Given the description of an element on the screen output the (x, y) to click on. 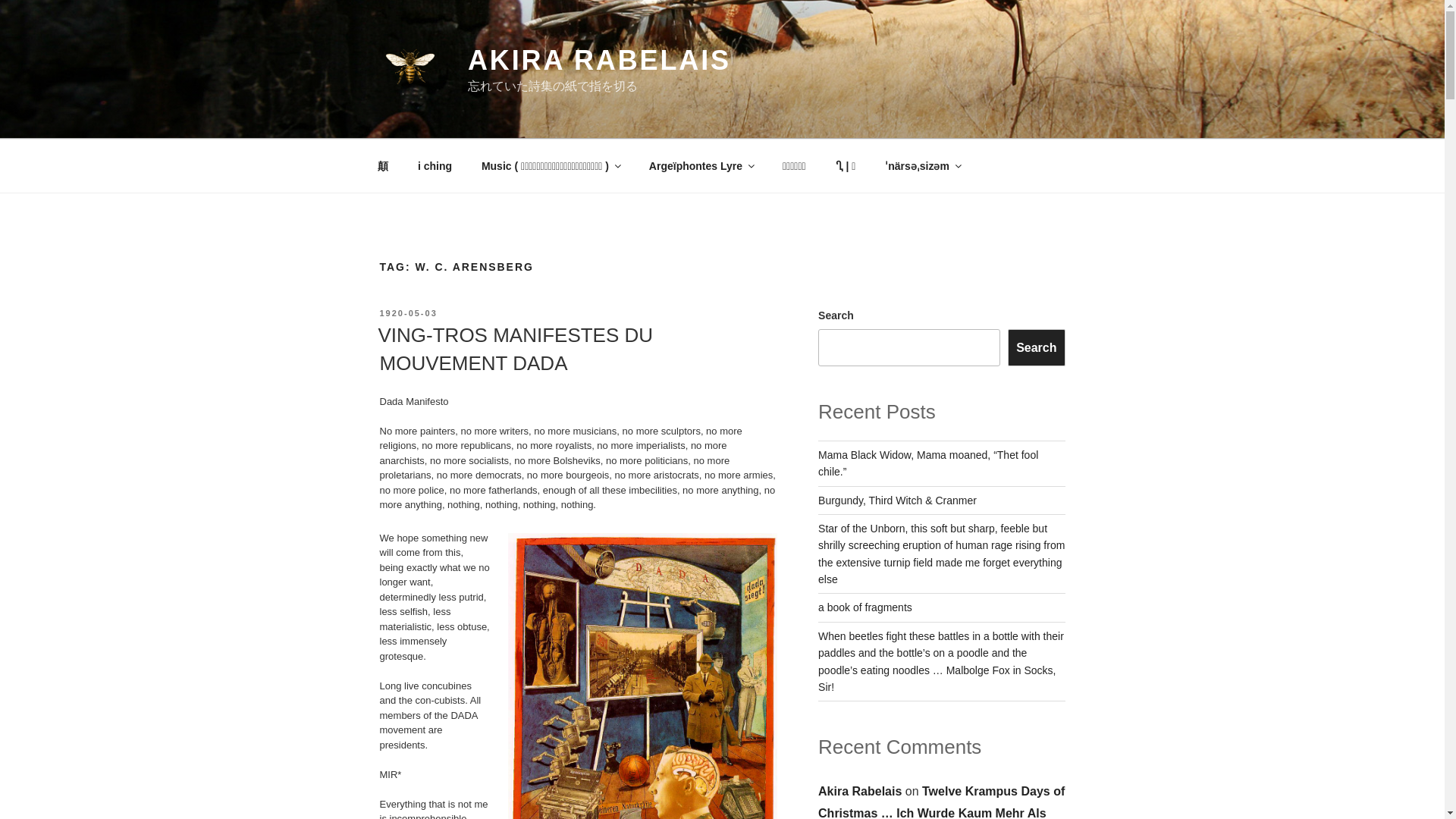
AKIRA RABELAIS (598, 60)
1920-05-03 (407, 312)
VING-TROS MANIFESTES DU MOUVEMENT DADA (514, 348)
Akira Rabelais (859, 790)
a book of fragments (865, 607)
i ching (434, 165)
Search (1035, 347)
